Given the description of an element on the screen output the (x, y) to click on. 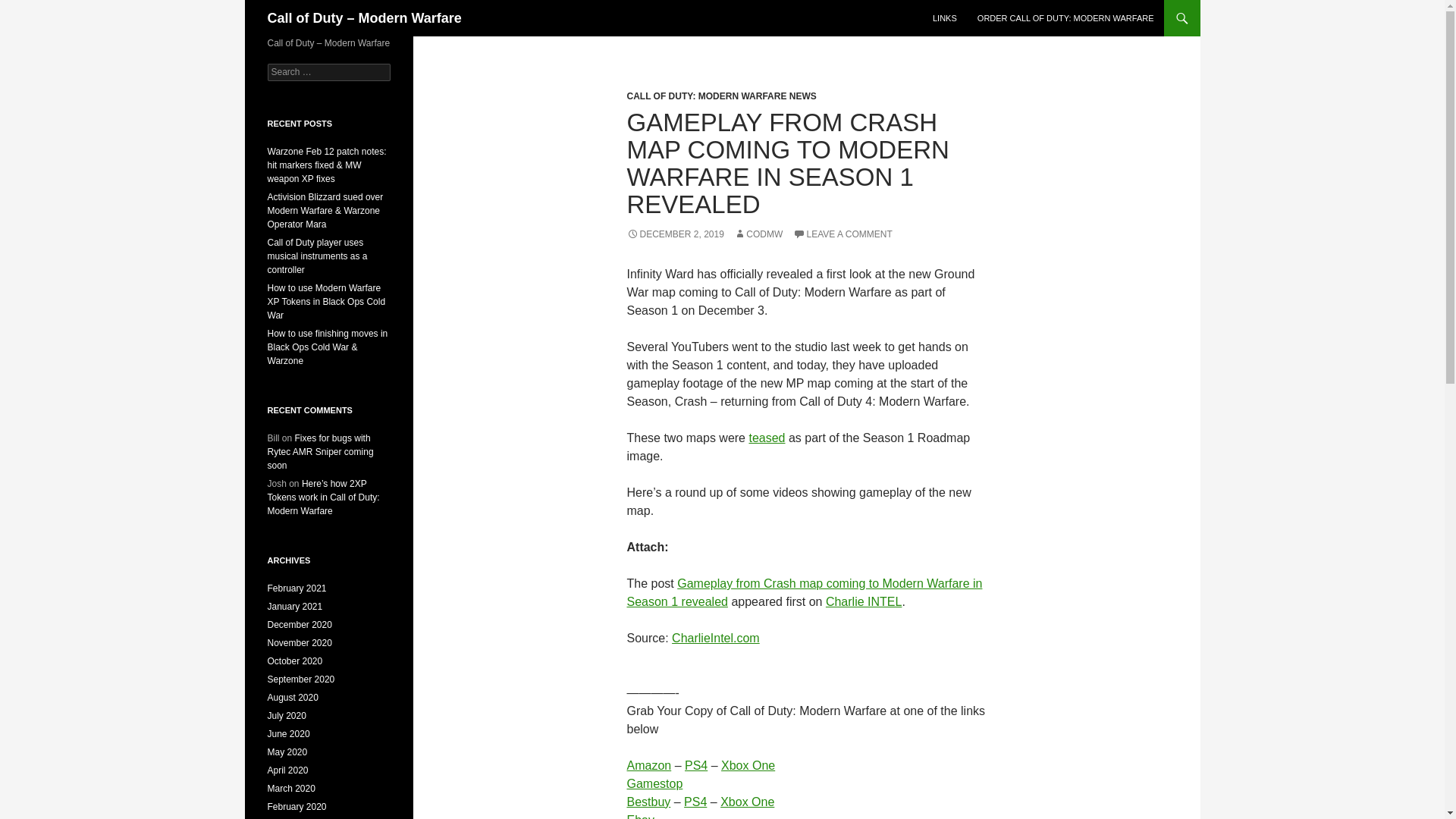
Gamestop (654, 783)
LEAVE A COMMENT (842, 234)
Ebay (639, 816)
ORDER CALL OF DUTY: MODERN WARFARE (1065, 18)
LINKS (944, 18)
CALL OF DUTY: MODERN WARFARE NEWS (720, 95)
Amazon (648, 765)
CharlieIntel.com (715, 637)
Xbox One (747, 801)
Charlie INTEL (863, 601)
